Given the description of an element on the screen output the (x, y) to click on. 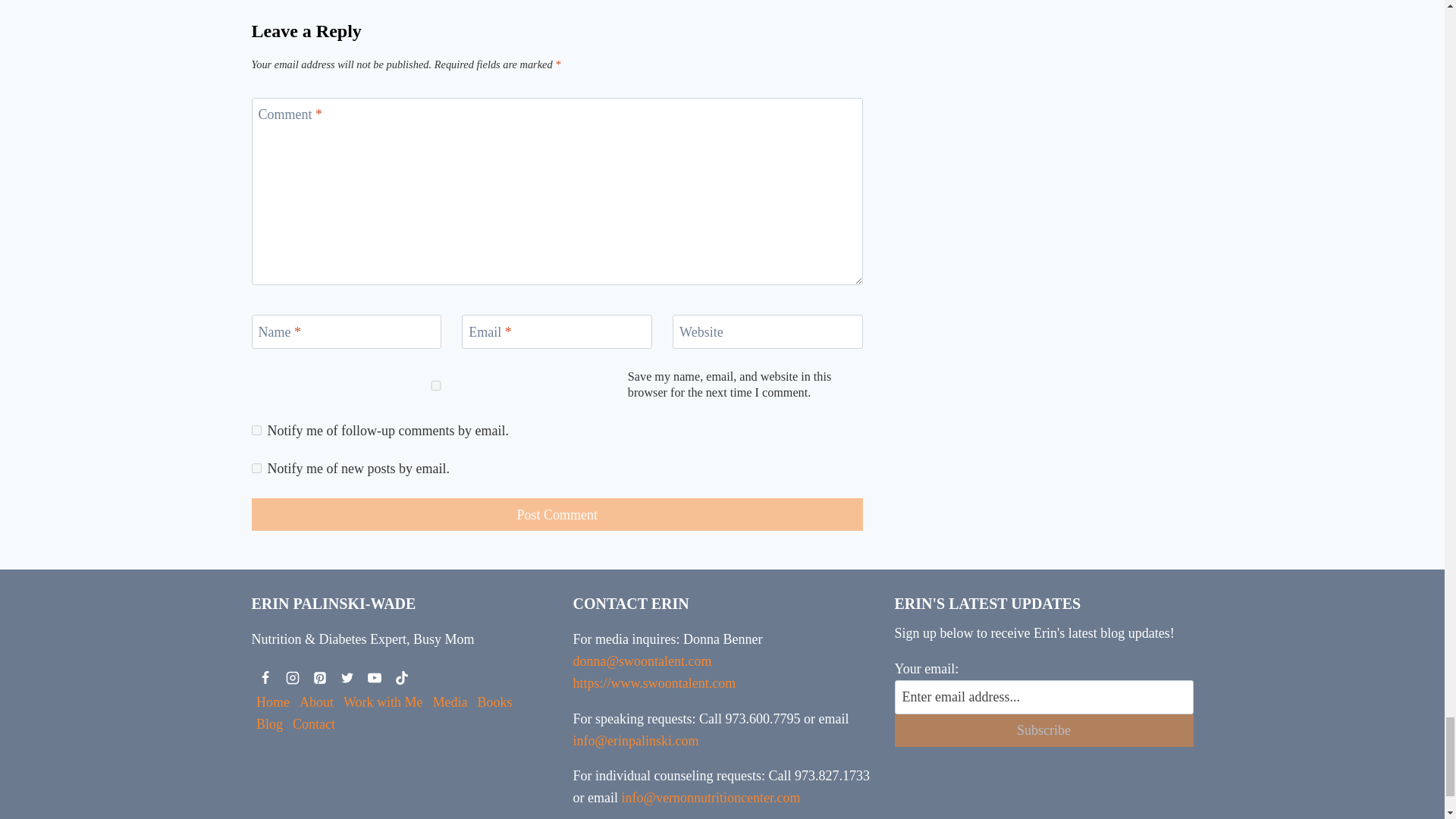
Post Comment (557, 513)
Subscribe (1044, 730)
Enter email address... (1044, 697)
subscribe (256, 468)
subscribe (256, 429)
yes (436, 385)
